Given the description of an element on the screen output the (x, y) to click on. 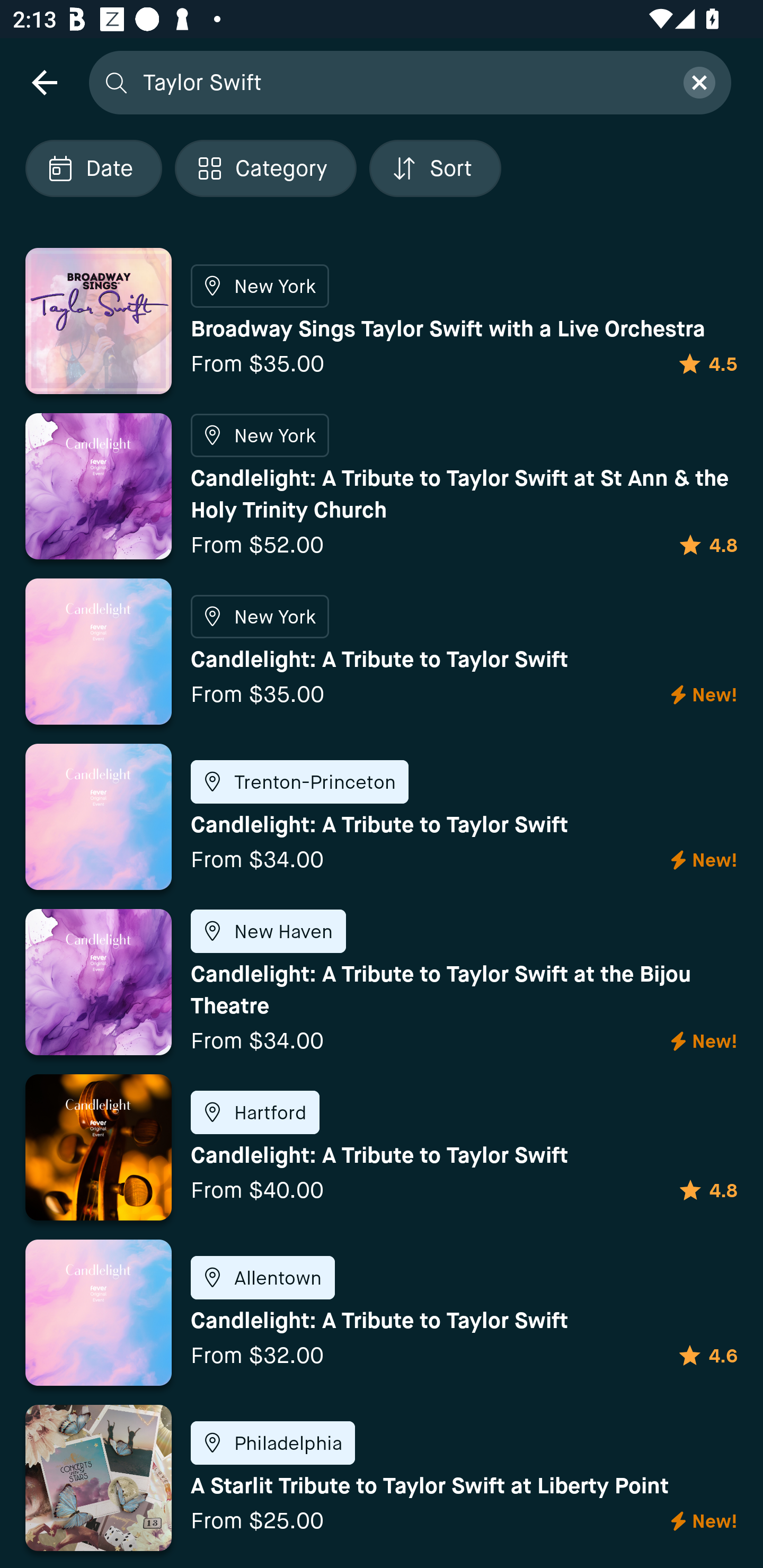
navigation icon (44, 81)
Taylor Swift (402, 81)
Localized description Date (93, 168)
Localized description Category (265, 168)
Localized description Sort (435, 168)
